Given the description of an element on the screen output the (x, y) to click on. 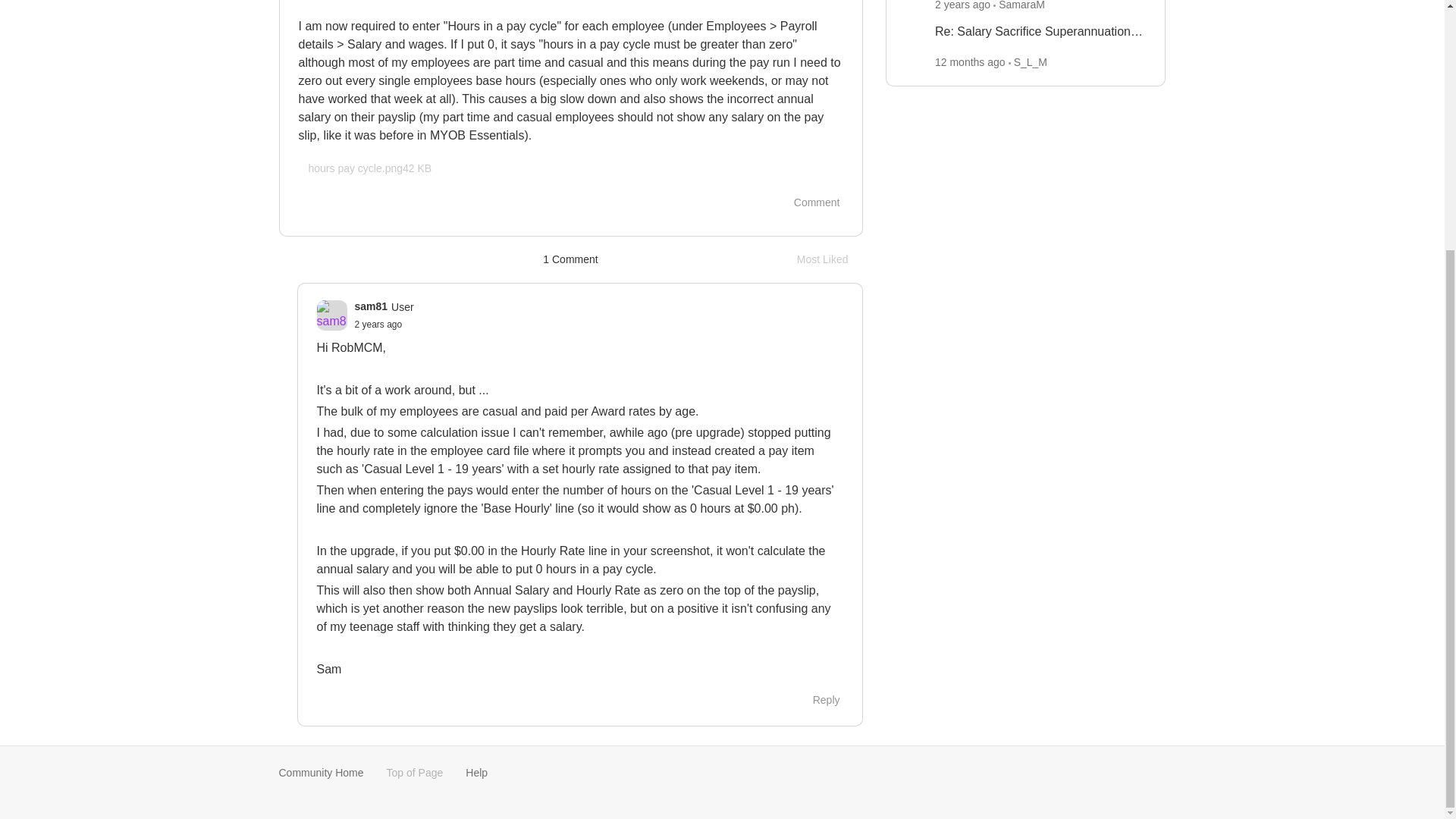
Re: Salary Sacrifice Superannuation 'Not Reportable' (829, 259)
2 years ago (1039, 32)
Reply (379, 324)
April 5, 2023 at 9:40 AM (818, 700)
Comment (379, 324)
October 25, 2022 at 5:50 AM (808, 202)
SamaraM (962, 5)
August 21, 2023 at 5:55 AM (1021, 5)
hours pay cycle.png42 KB (969, 61)
sam81 (370, 168)
